Given the description of an element on the screen output the (x, y) to click on. 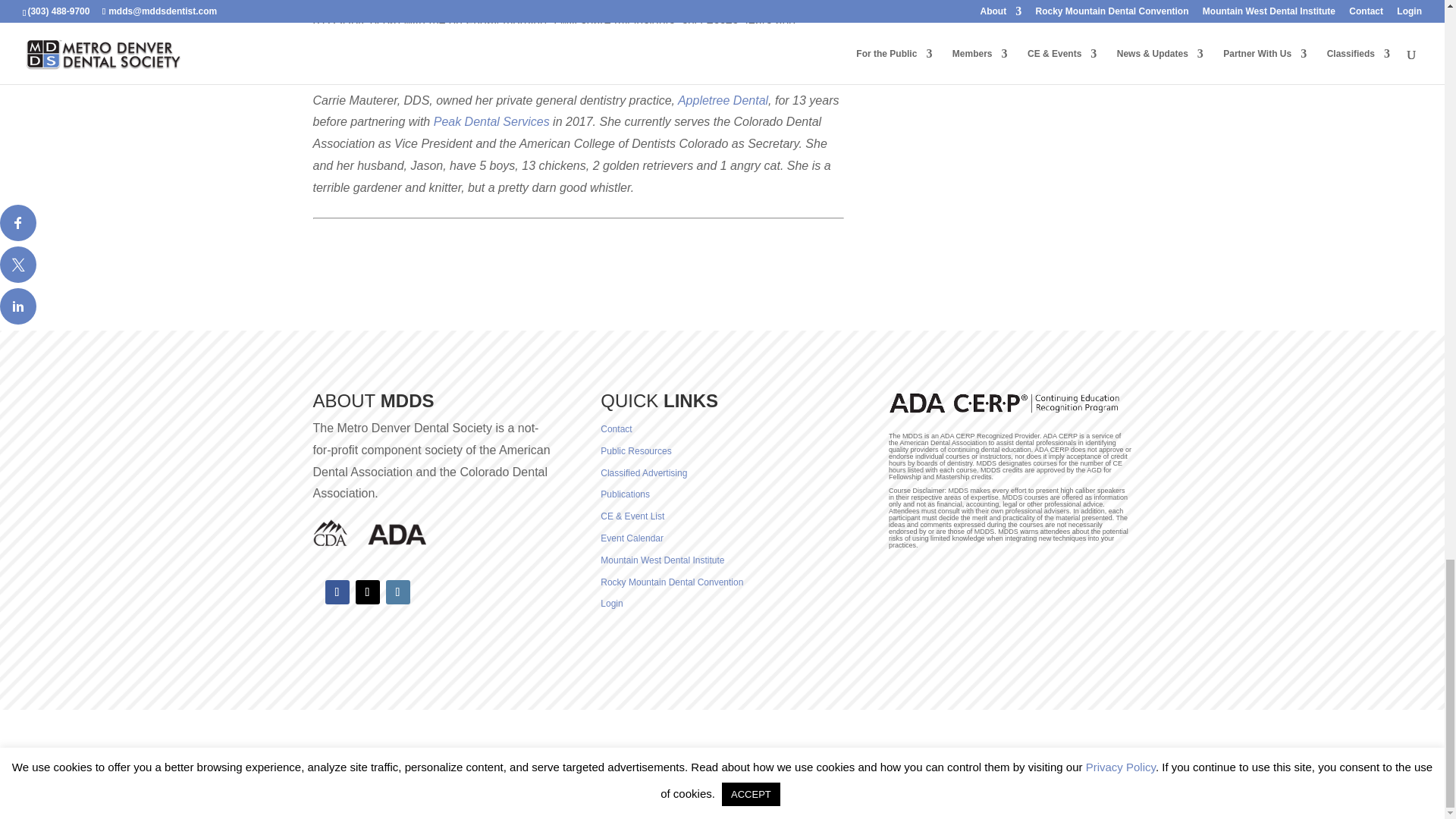
Follow on Facebook (336, 591)
Follow on Twitter (366, 591)
Follow on Instagram (397, 591)
